Given the description of an element on the screen output the (x, y) to click on. 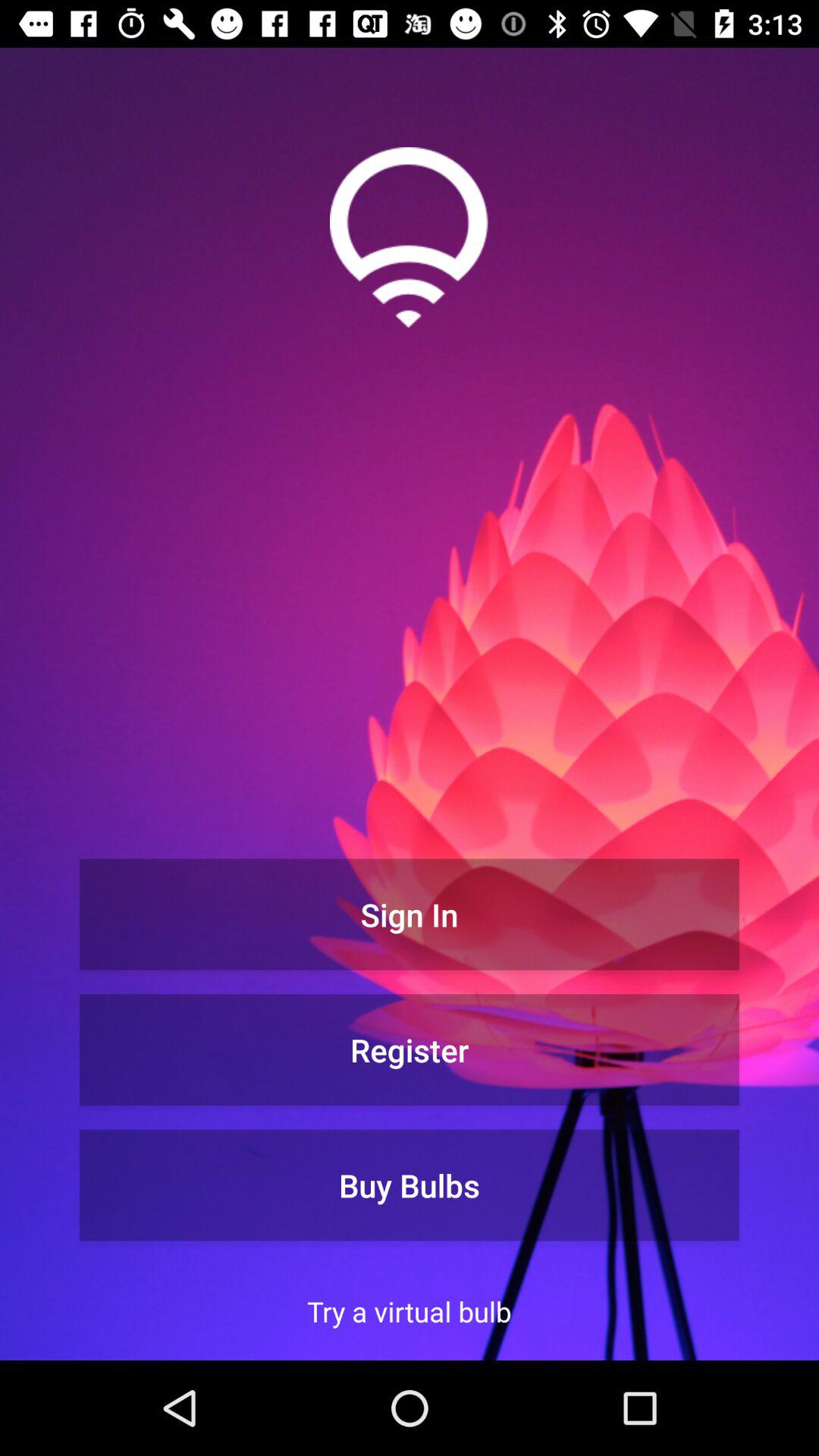
launch the icon above the buy bulbs item (409, 1049)
